Given the description of an element on the screen output the (x, y) to click on. 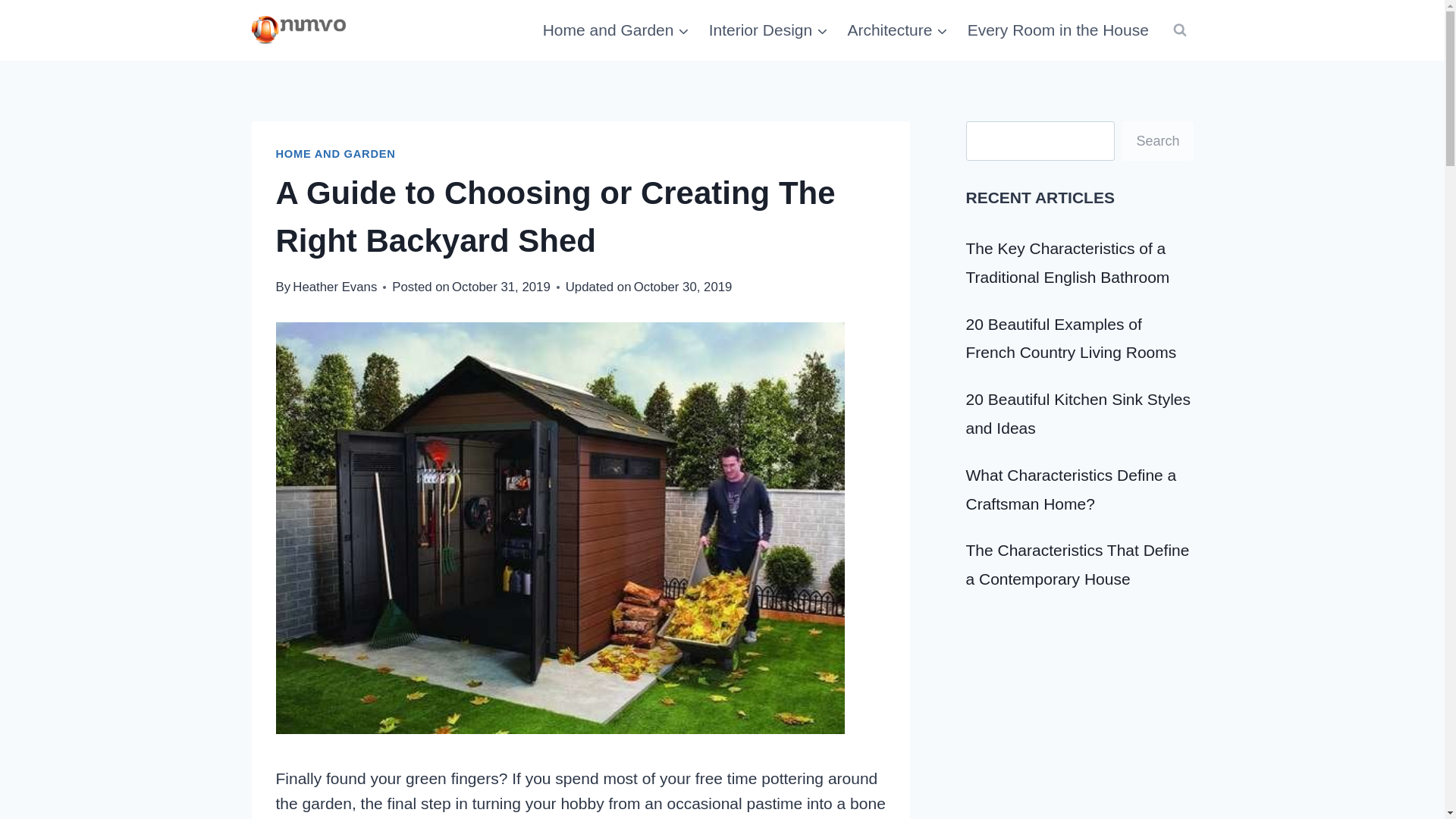
Interior Design (768, 30)
HOME AND GARDEN (336, 153)
Heather Evans (334, 287)
Home and Garden (615, 30)
Architecture (898, 30)
Every Room in the House (1057, 30)
